Given the description of an element on the screen output the (x, y) to click on. 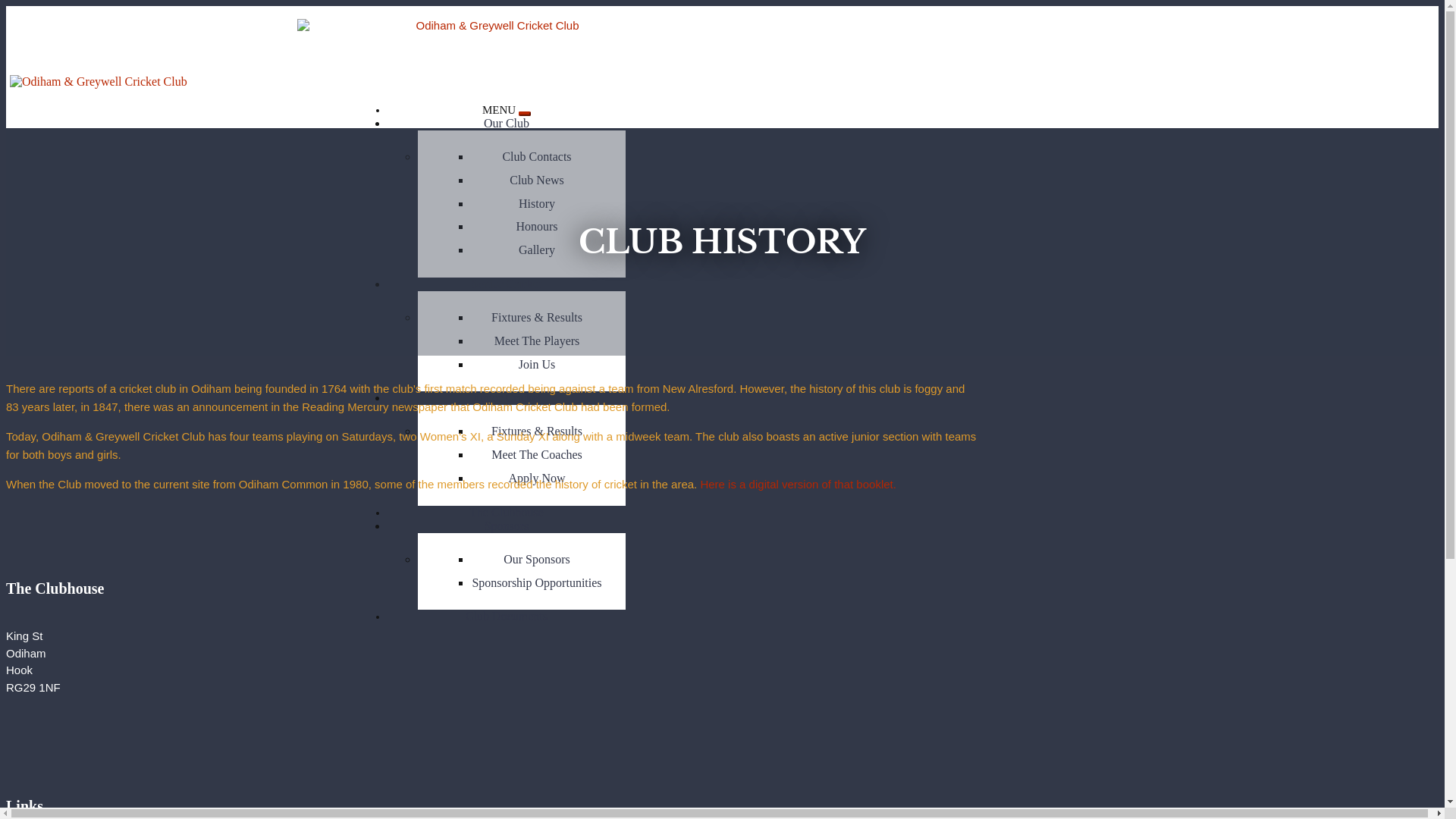
Meet The Coaches Element type: text (536, 455)
Fixtures & Results Element type: text (536, 431)
Sponsors Element type: text (506, 525)
Honours Element type: text (536, 226)
Our Sponsors Element type: text (536, 559)
Join Us Element type: text (536, 364)
Our Club Element type: text (506, 123)
Here is a digital version of that booklet. Element type: text (797, 483)
Junior Cricket Element type: text (506, 397)
Fixtures & Results Element type: text (536, 317)
Meet The Players Element type: text (536, 341)
Club News Element type: text (536, 180)
Gallery Element type: text (536, 250)
Senior Cricket Element type: text (506, 283)
The Clubhouse Element type: text (505, 512)
Sponsorship Opportunities Element type: text (536, 583)
Club Contacts Element type: text (536, 157)
Club Documents Element type: text (506, 615)
Apply Now Element type: text (536, 478)
History Element type: text (536, 204)
